Given the description of an element on the screen output the (x, y) to click on. 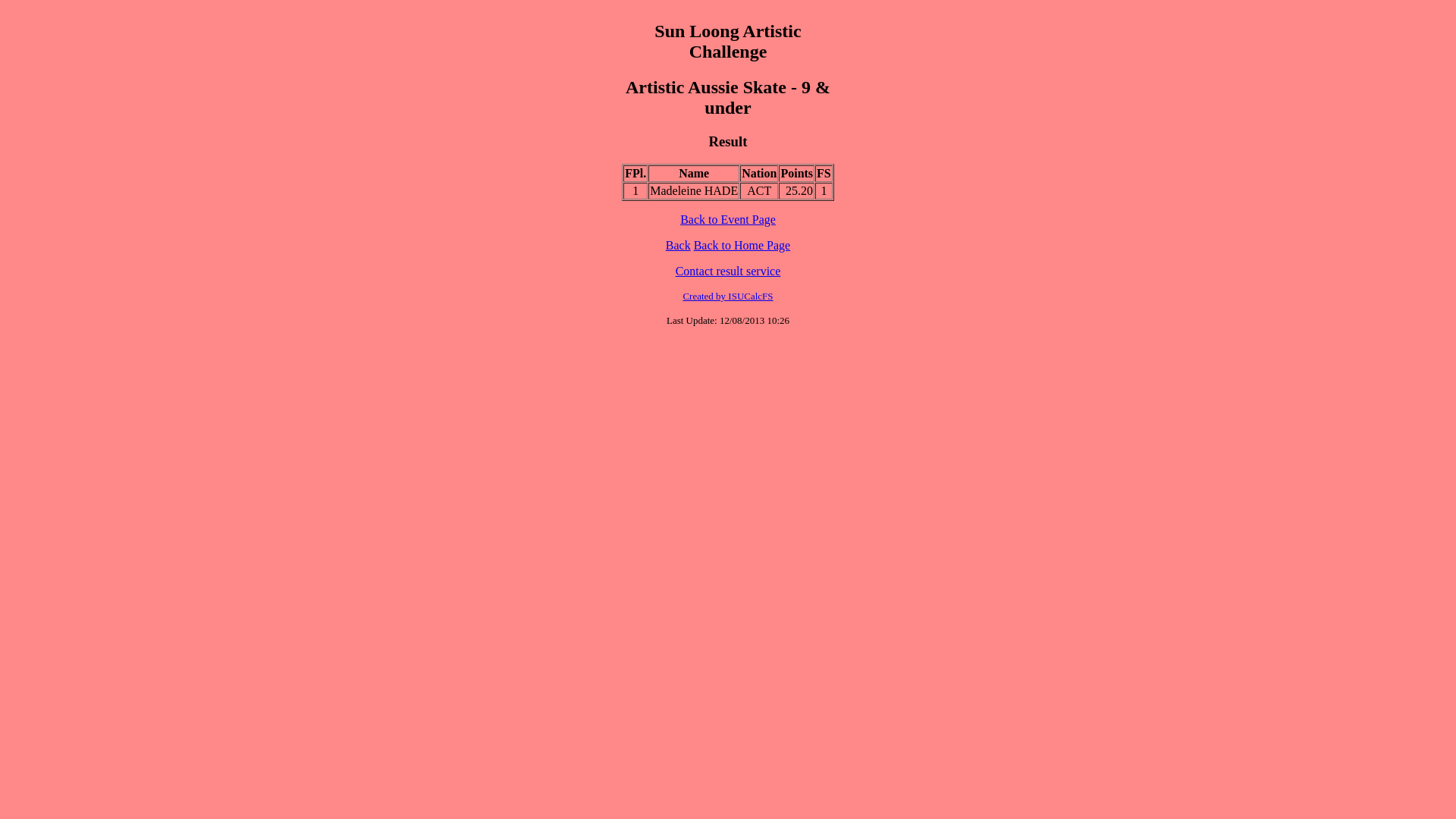
Madeleine HADE Element type: text (693, 190)
Back to Home Page Element type: text (741, 244)
Created by ISUCalcFS Element type: text (727, 295)
Back to Event Page Element type: text (727, 219)
Contact result service Element type: text (728, 270)
Back Element type: text (677, 244)
